Given the description of an element on the screen output the (x, y) to click on. 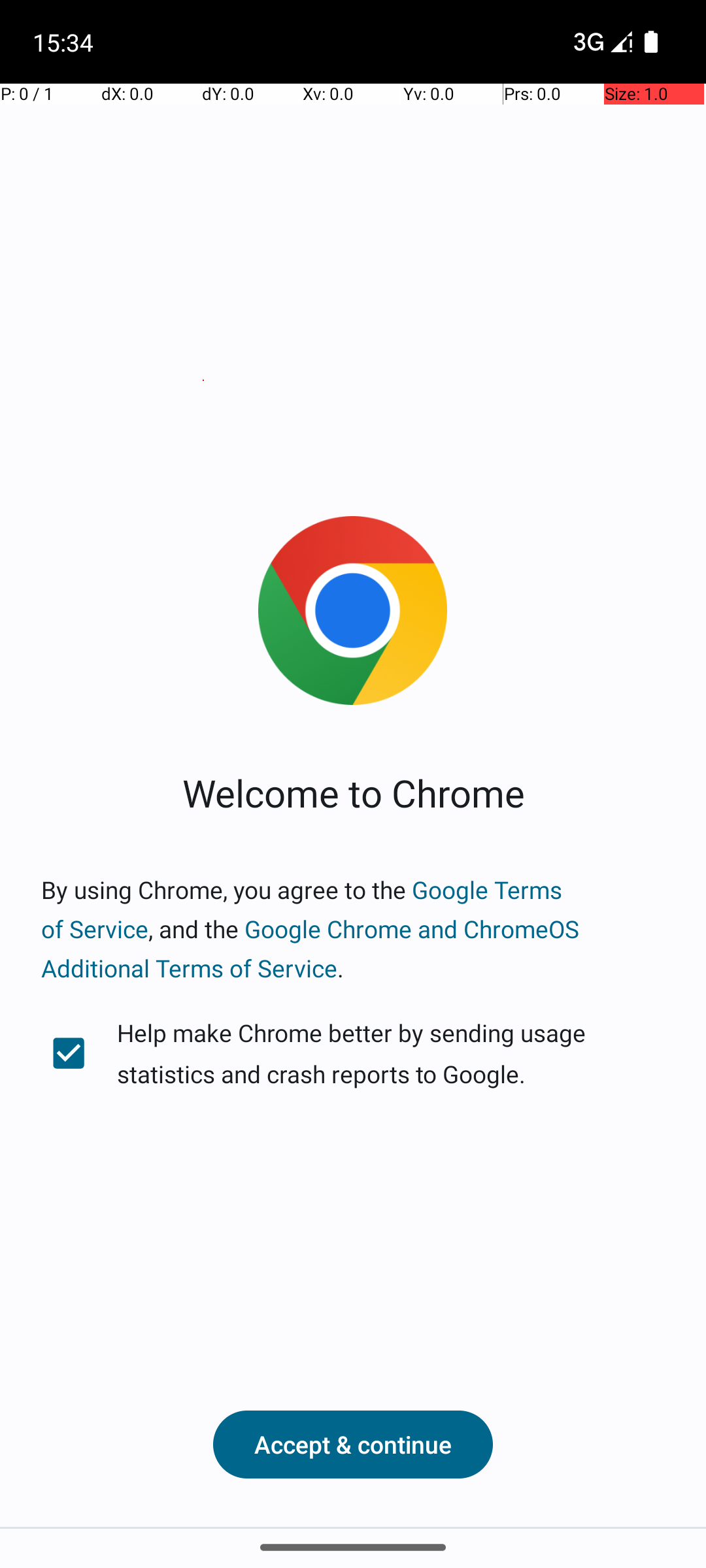
By using Chrome, you agree to the Google Terms of Service, and the Google Chrome and ChromeOS Additional Terms of Service. Element type: android.widget.TextView (352, 928)
Help make Chrome better by sending usage statistics and crash reports to Google. Element type: android.widget.CheckBox (352, 1053)
